Given the description of an element on the screen output the (x, y) to click on. 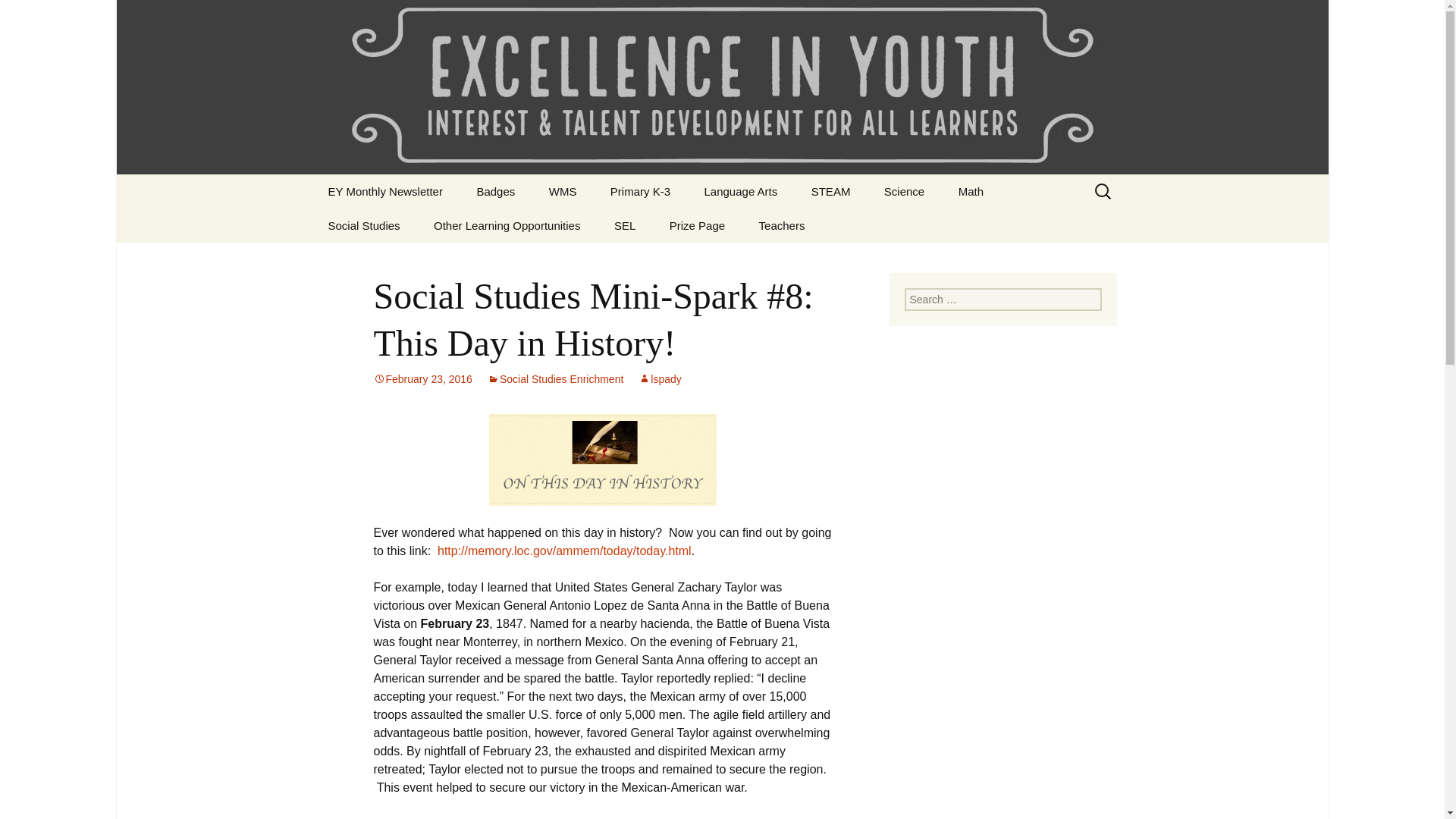
Badge Choices (536, 225)
Mini Sparks (944, 225)
Primary K-3 (640, 191)
May 2024 (388, 225)
Science (904, 191)
Badges (495, 191)
Language Arts (740, 191)
Math (970, 191)
WMS (563, 191)
EY Monthly Newsletter (385, 191)
